Given the description of an element on the screen output the (x, y) to click on. 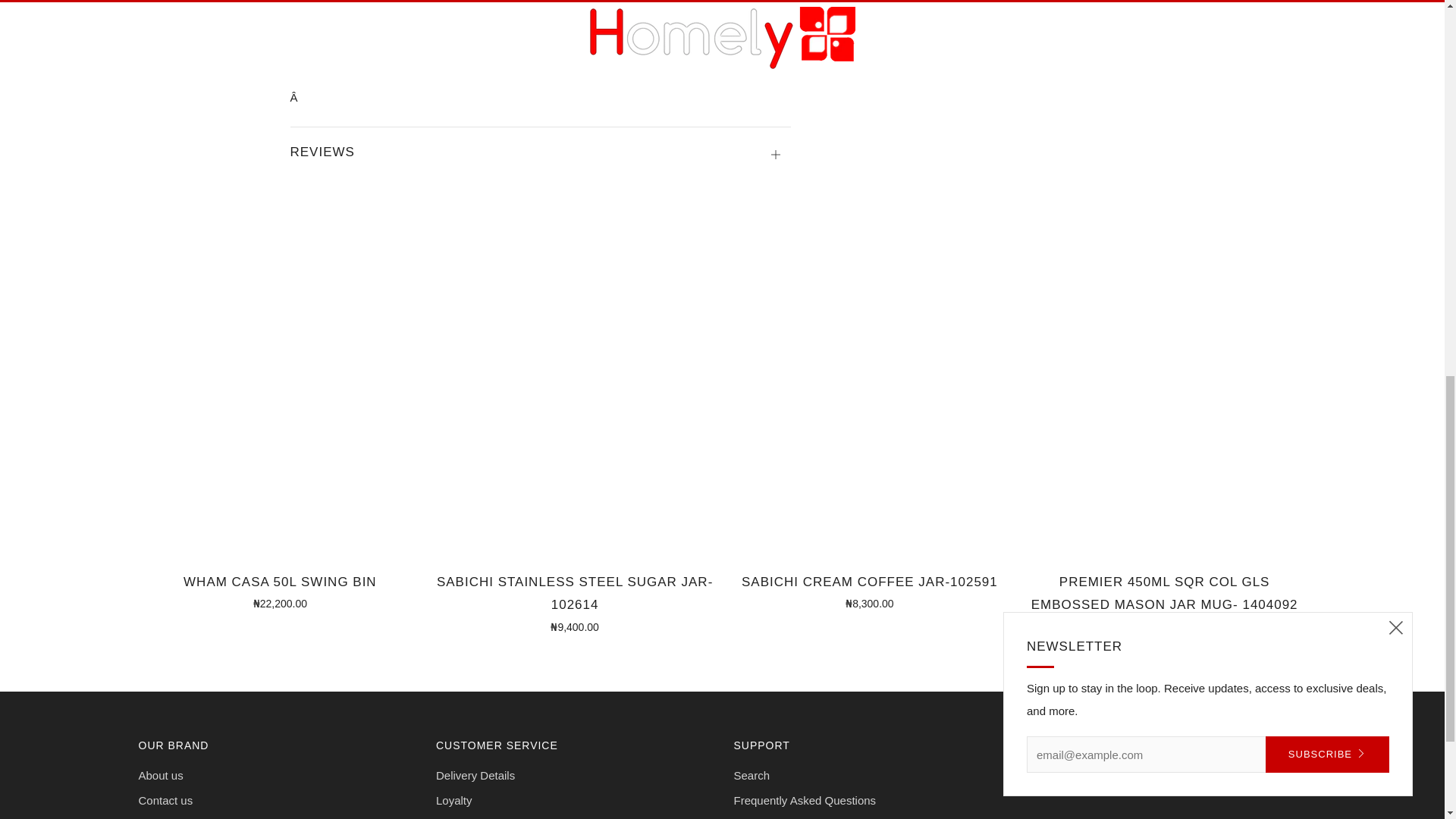
Wham Casa 50L Swing Bin (280, 589)
PREMIER 450ML SQR COL GLS EMBOSSED MASON JAR MUG- 1404092 (1164, 601)
Sabichi Cream Coffee Jar-102591 (869, 589)
Sabichi Stainless Steel Sugar jar-102614 (574, 601)
